Given the description of an element on the screen output the (x, y) to click on. 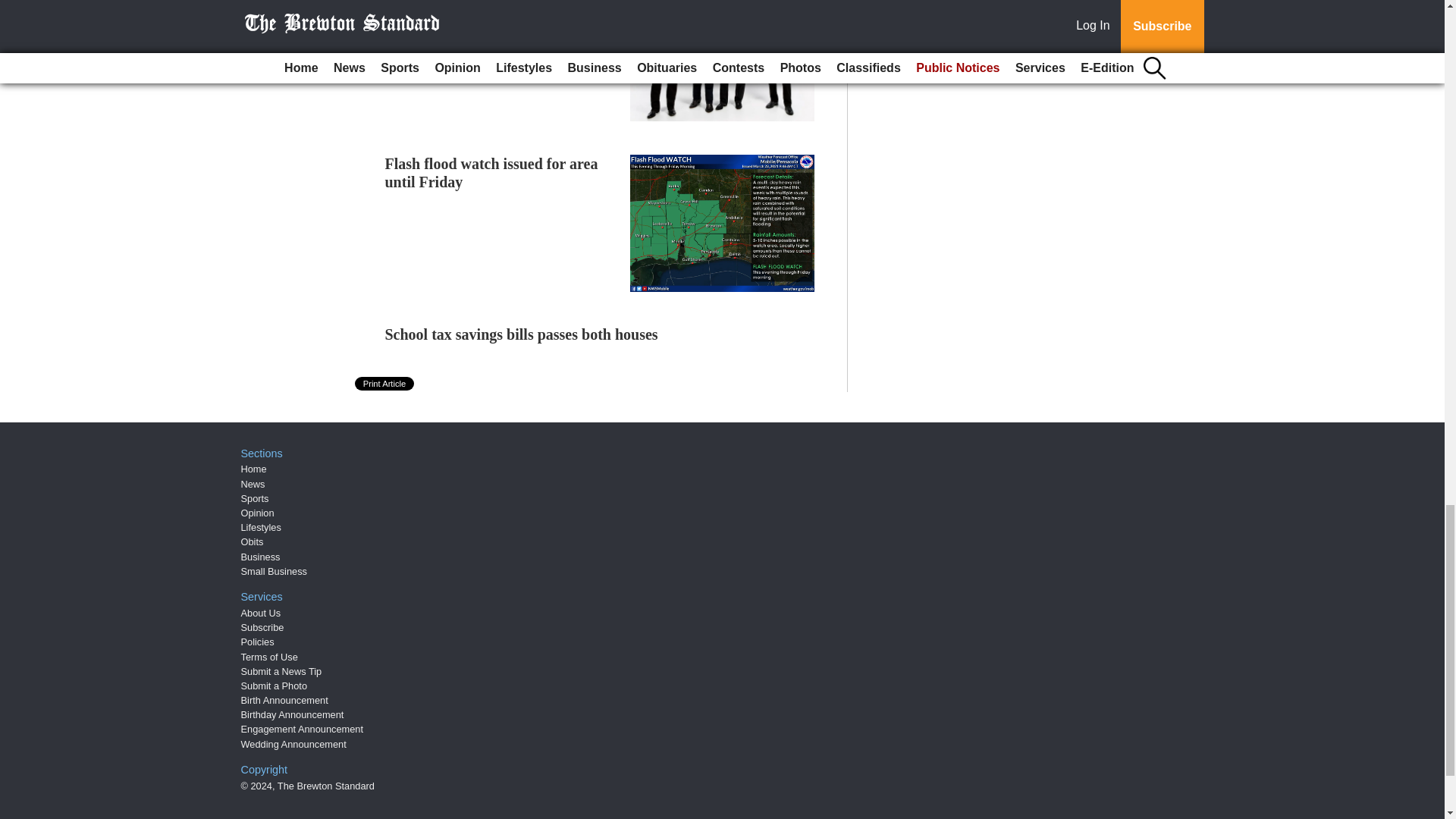
The Oak Ridge Boys to perform Sunday in Opp (488, 4)
Print Article (384, 383)
Flash flood watch issued for area until Friday (491, 172)
Home (253, 469)
School tax savings bills passes both houses (521, 334)
The Oak Ridge Boys to perform Sunday in Opp (488, 4)
Flash flood watch issued for area until Friday (491, 172)
School tax savings bills passes both houses (521, 334)
